Given the description of an element on the screen output the (x, y) to click on. 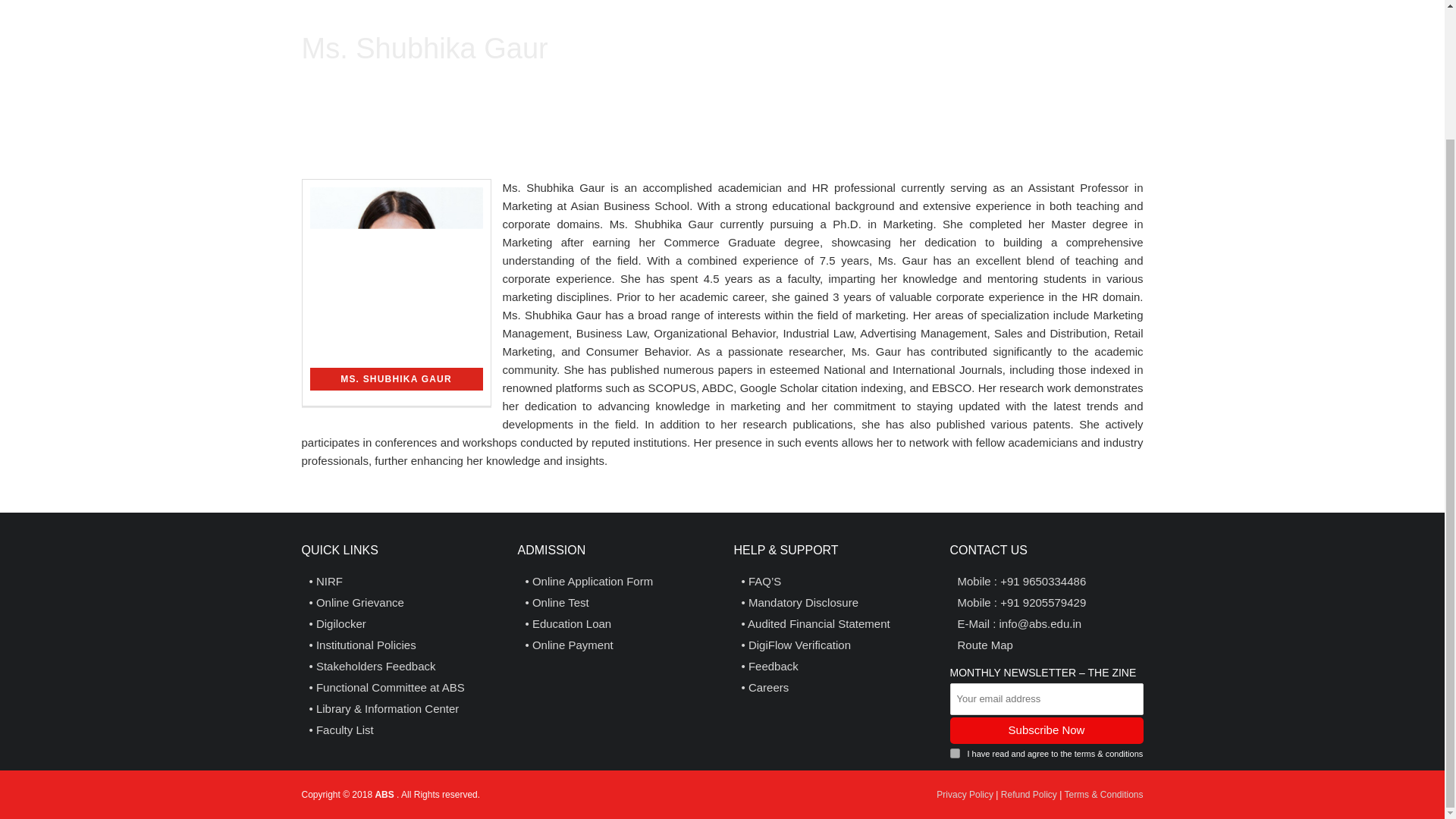
Subscribe Now (1045, 730)
